Given the description of an element on the screen output the (x, y) to click on. 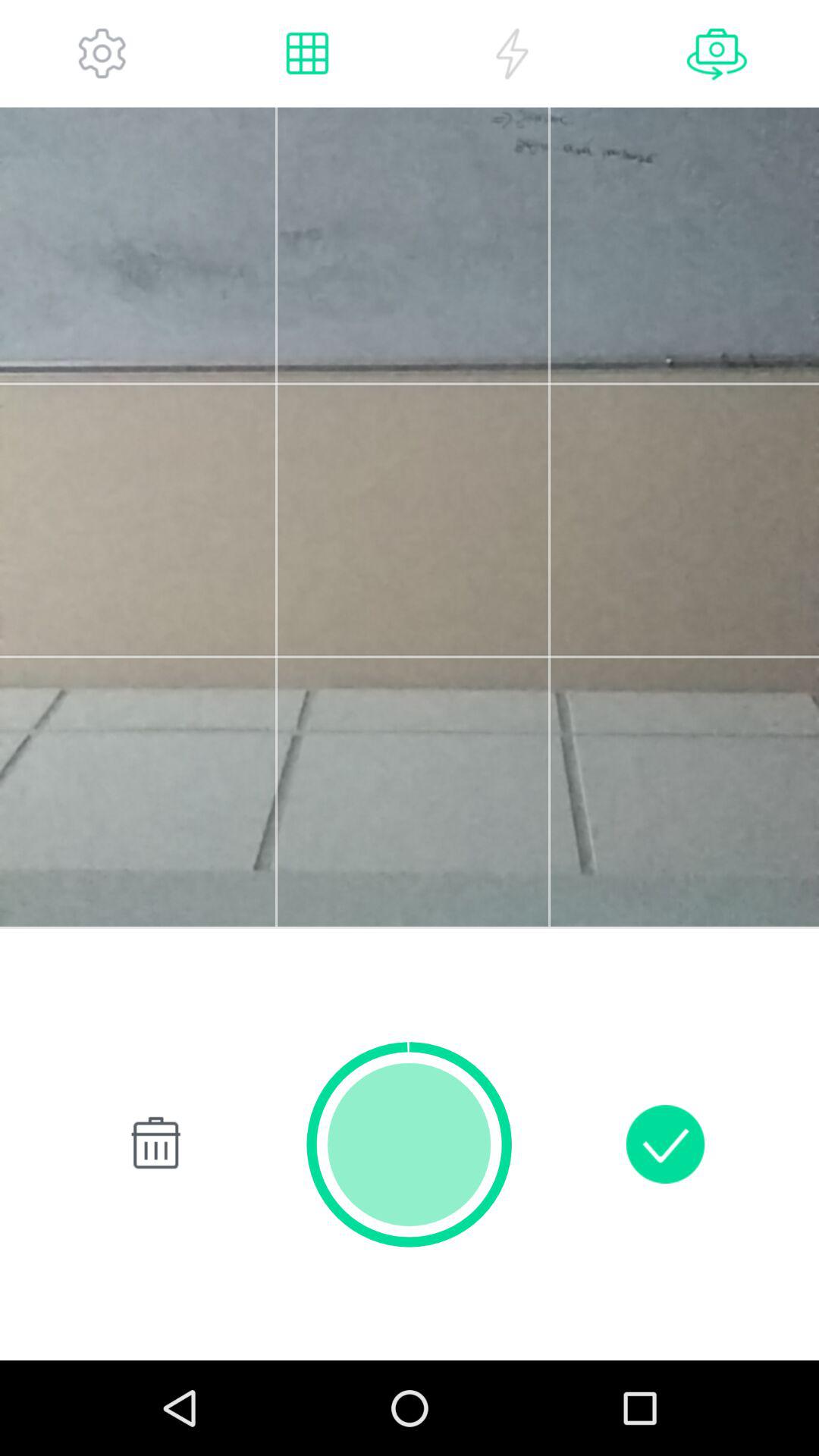
switch to front/back camera (716, 53)
